Given the description of an element on the screen output the (x, y) to click on. 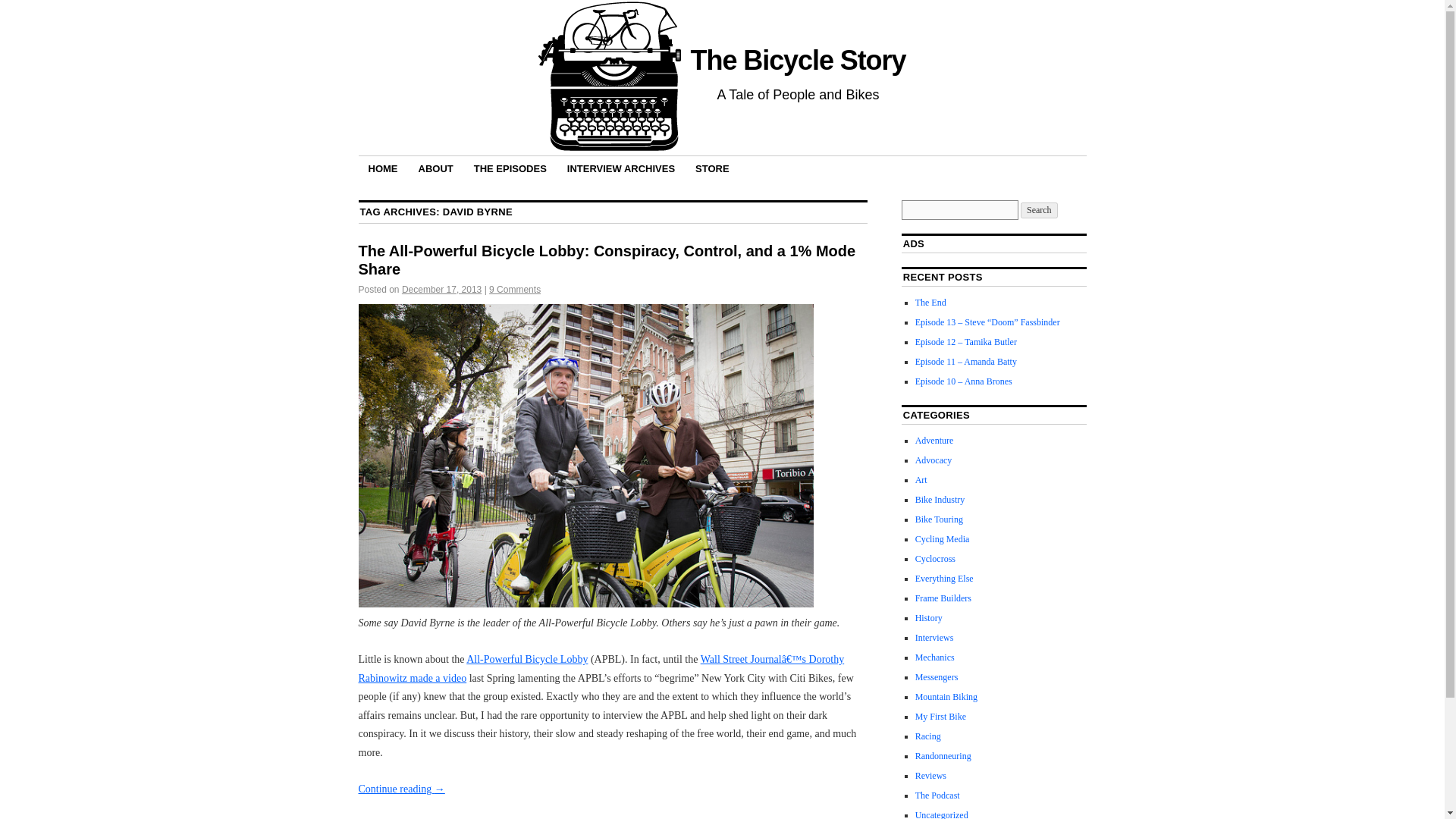
INTERVIEW ARCHIVES (620, 168)
Cyclocross (935, 558)
The Bicycle Story (797, 60)
All-Powerful Bicycle Lobby (526, 659)
The Bicycle Story (797, 60)
8:18 am (441, 289)
The End (930, 302)
December 17, 2013 (441, 289)
Everything Else (944, 578)
Adventure (934, 439)
